Given the description of an element on the screen output the (x, y) to click on. 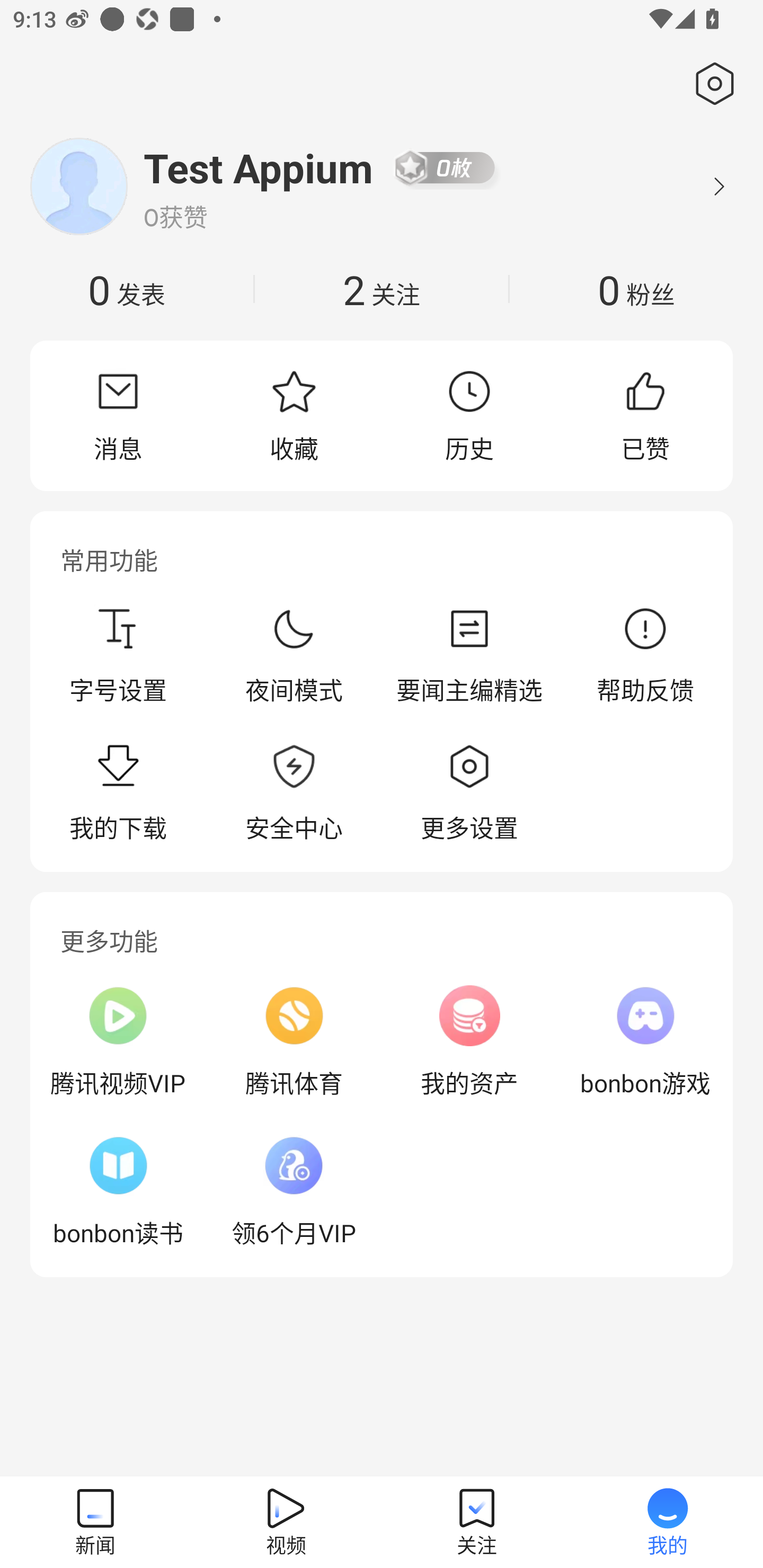
设置，可点击 (711, 83)
头像，可点击 (78, 186)
用户：Test Appium，可点击 (258, 167)
0枚勋章，可点击 (444, 167)
0发表，可点击 (126, 288)
2关注，可点击 (381, 288)
0粉丝，可点击 (636, 288)
消息，可点击 (118, 415)
收藏，可点击 (293, 415)
历史，可点击 (469, 415)
已赞，可点击 (644, 415)
字号设置，可点击 (118, 655)
夜间模式，可点击 (293, 655)
要闻主编精选，可点击 (469, 655)
帮助反馈，可点击 (644, 655)
我的下载，可点击 (118, 793)
安全中心，可点击 (293, 793)
更多设置，可点击 (469, 793)
腾讯视频VIP，可点击 (118, 1041)
腾讯体育，可点击 (293, 1041)
我的资产，可点击 (469, 1041)
bonbon游戏，可点击 (644, 1041)
bonbon读书，可点击 (118, 1191)
领6个月VIP，可点击 (293, 1191)
